Given the description of an element on the screen output the (x, y) to click on. 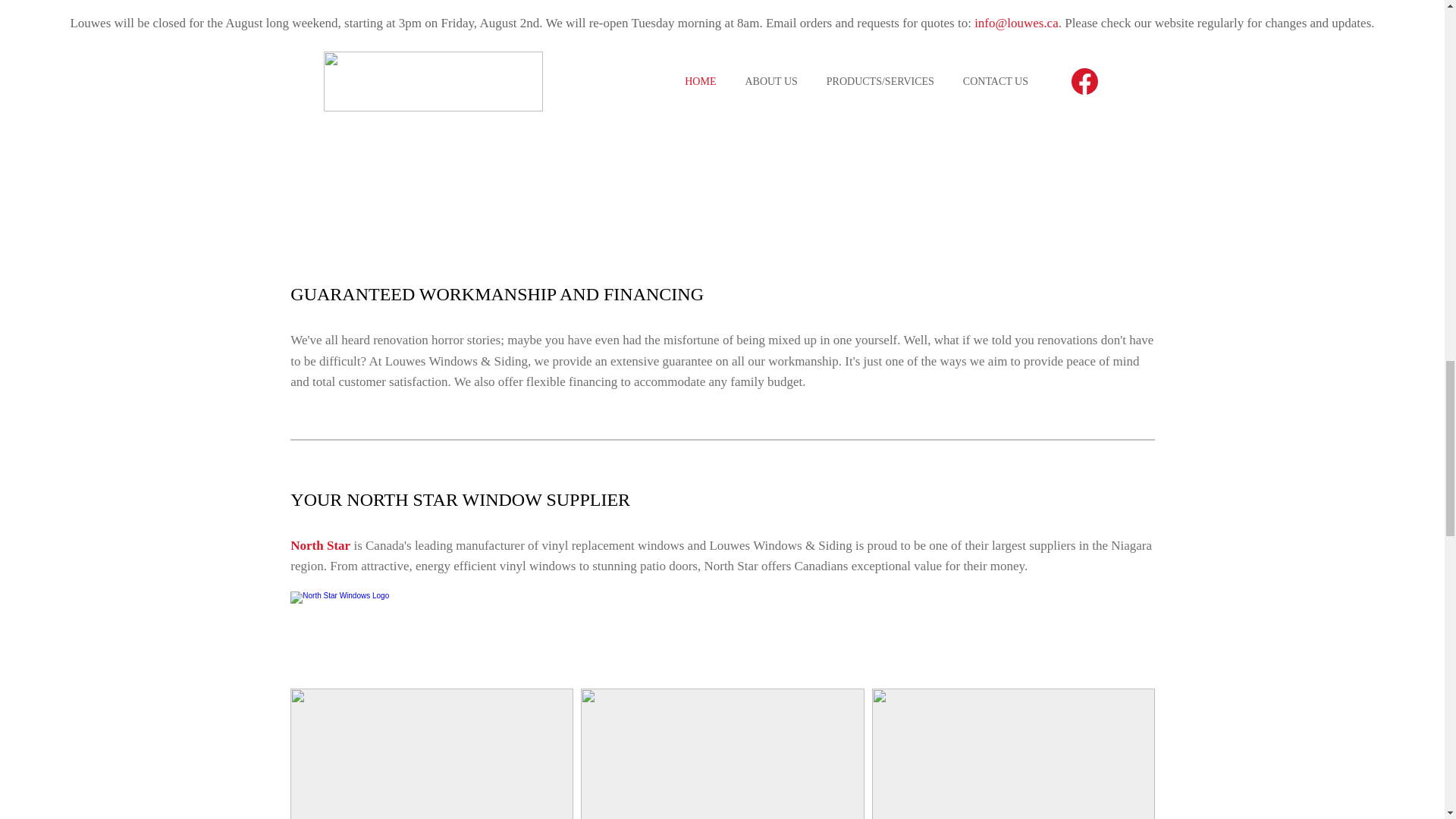
North Star (319, 545)
